Given the description of an element on the screen output the (x, y) to click on. 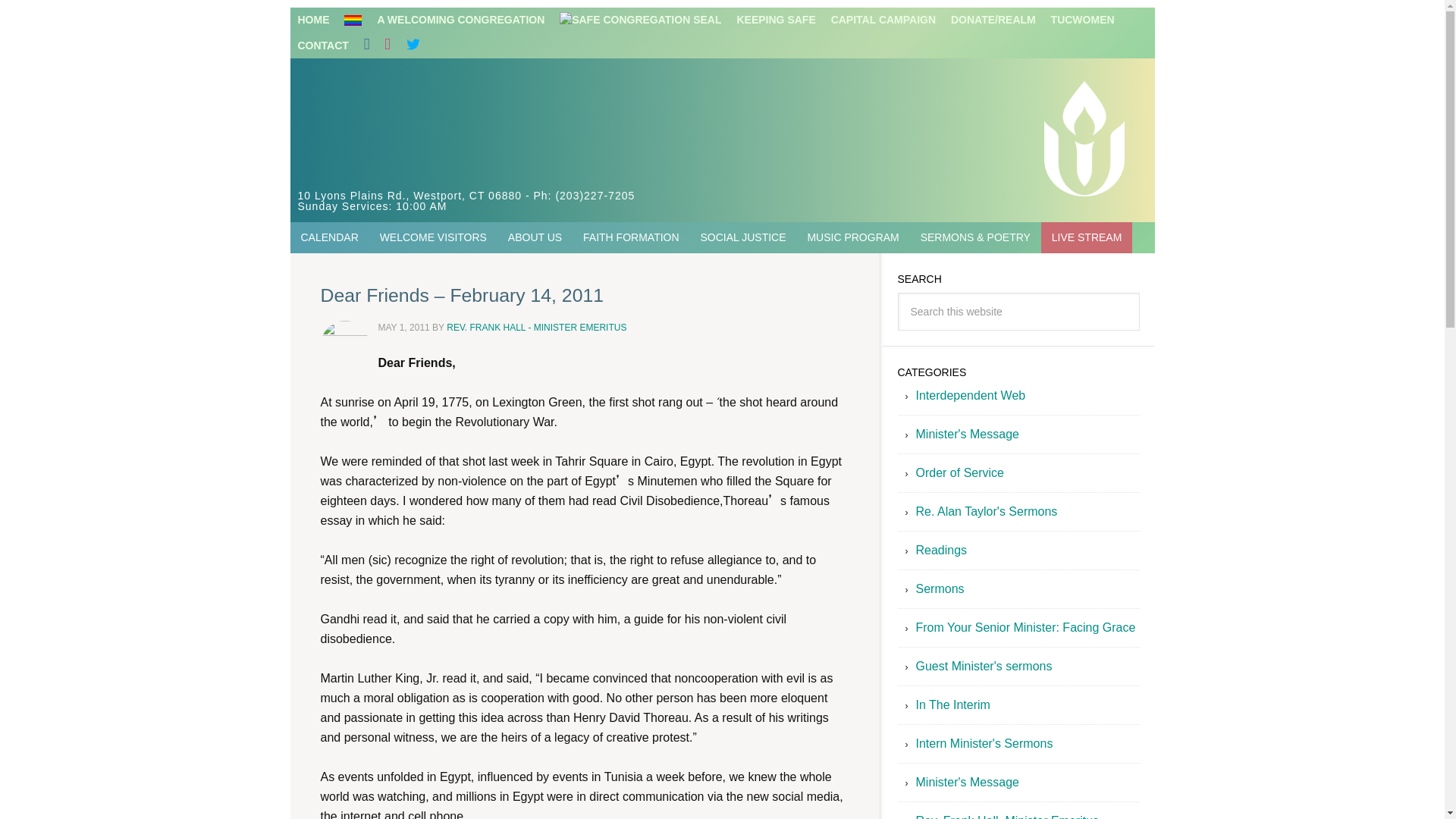
CALENDAR (328, 237)
THE UNITARIAN UNIVERSALIST CONGREGATION IN WESTPORT (535, 128)
TUCWOMEN (1082, 19)
KEEPING SAFE (687, 20)
TWITTER (412, 45)
CAPITAL CAMPAIGN (883, 19)
HOME (312, 19)
CONTACT (322, 45)
A WELCOMING CONGREGATION (443, 19)
